Given the description of an element on the screen output the (x, y) to click on. 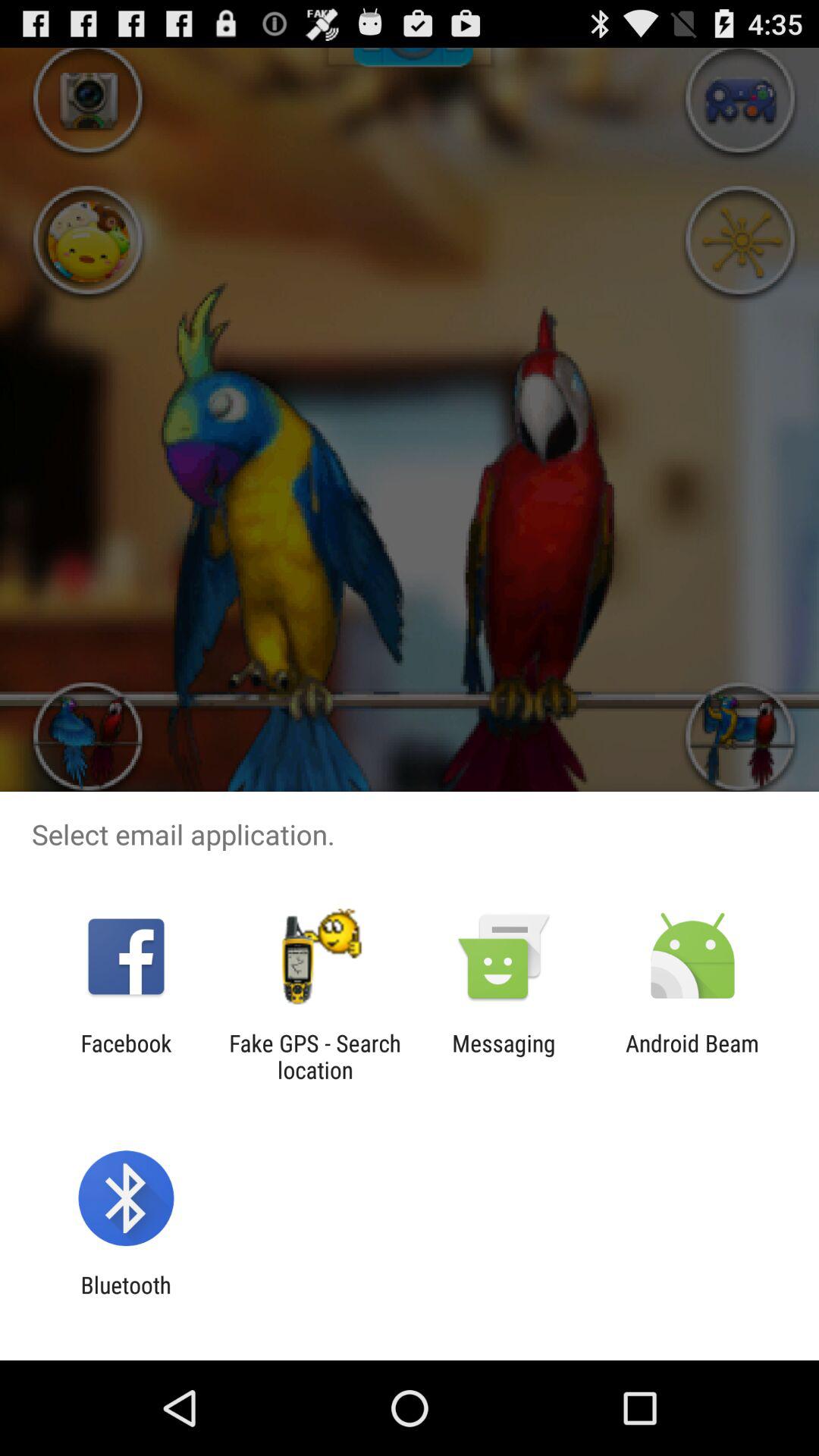
click app to the left of fake gps search item (125, 1056)
